Given the description of an element on the screen output the (x, y) to click on. 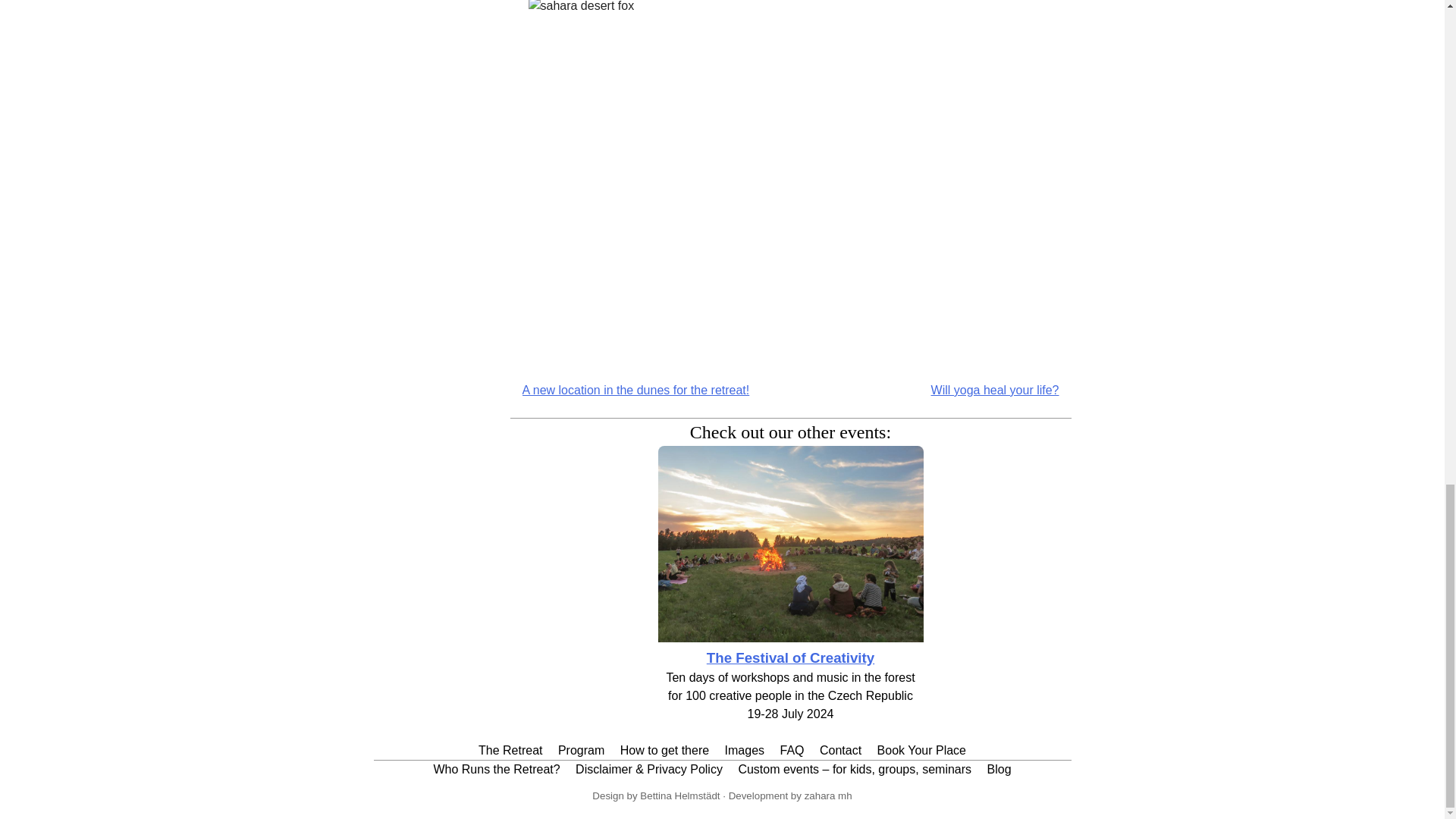
Blog (999, 768)
Contact (840, 749)
Will yoga heal your life? (995, 390)
Road Junky Festival (790, 657)
The Retreat (510, 749)
E-mail the designer (679, 795)
A new location in the dunes for the retreat! (635, 390)
Book Your Place (921, 749)
How to get there (664, 749)
Visit the developer's site (828, 795)
Images (744, 749)
Who Runs the Retreat? (495, 768)
Road Junky Retreat in Morocco (790, 637)
FAQ (792, 749)
The Festival of Creativity (790, 657)
